Given the description of an element on the screen output the (x, y) to click on. 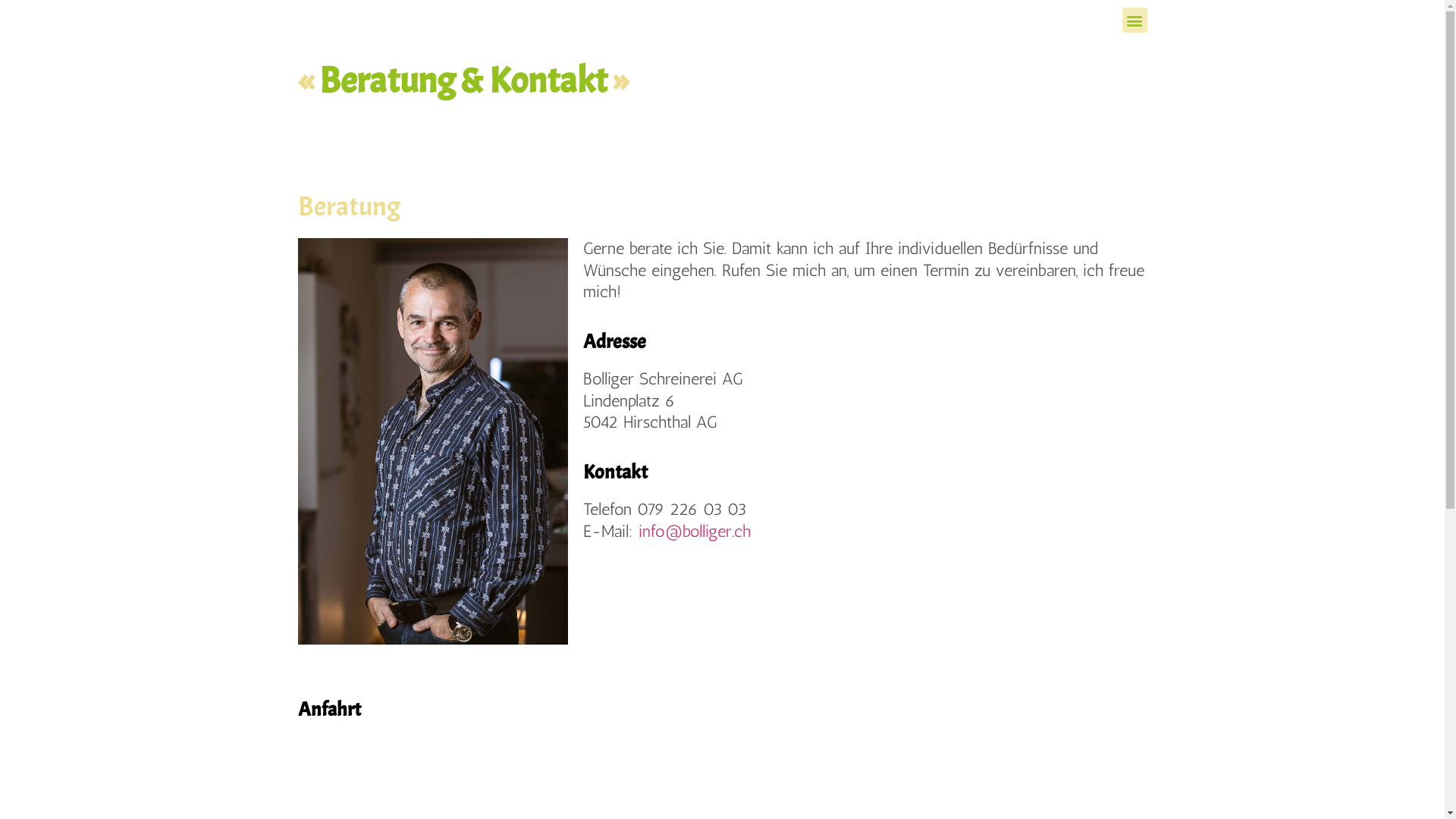
info@bolliger.ch Element type: text (694, 530)
